Given the description of an element on the screen output the (x, y) to click on. 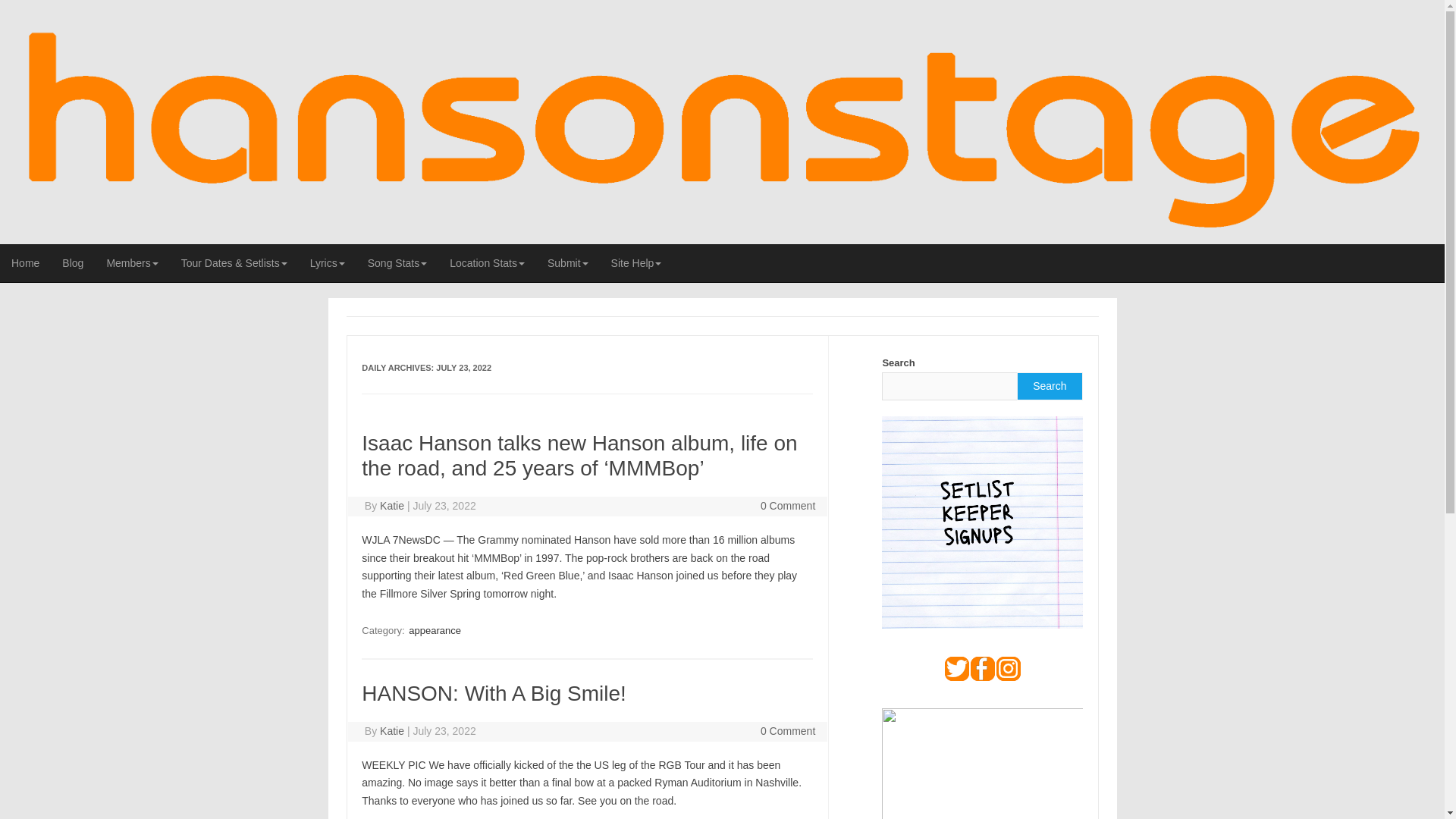
Blog (72, 262)
Home (25, 262)
Posts by Katie (392, 730)
Members (131, 262)
Permalink to HANSON: With A Big Smile! (493, 693)
Posts by Katie (392, 505)
